Given the description of an element on the screen output the (x, y) to click on. 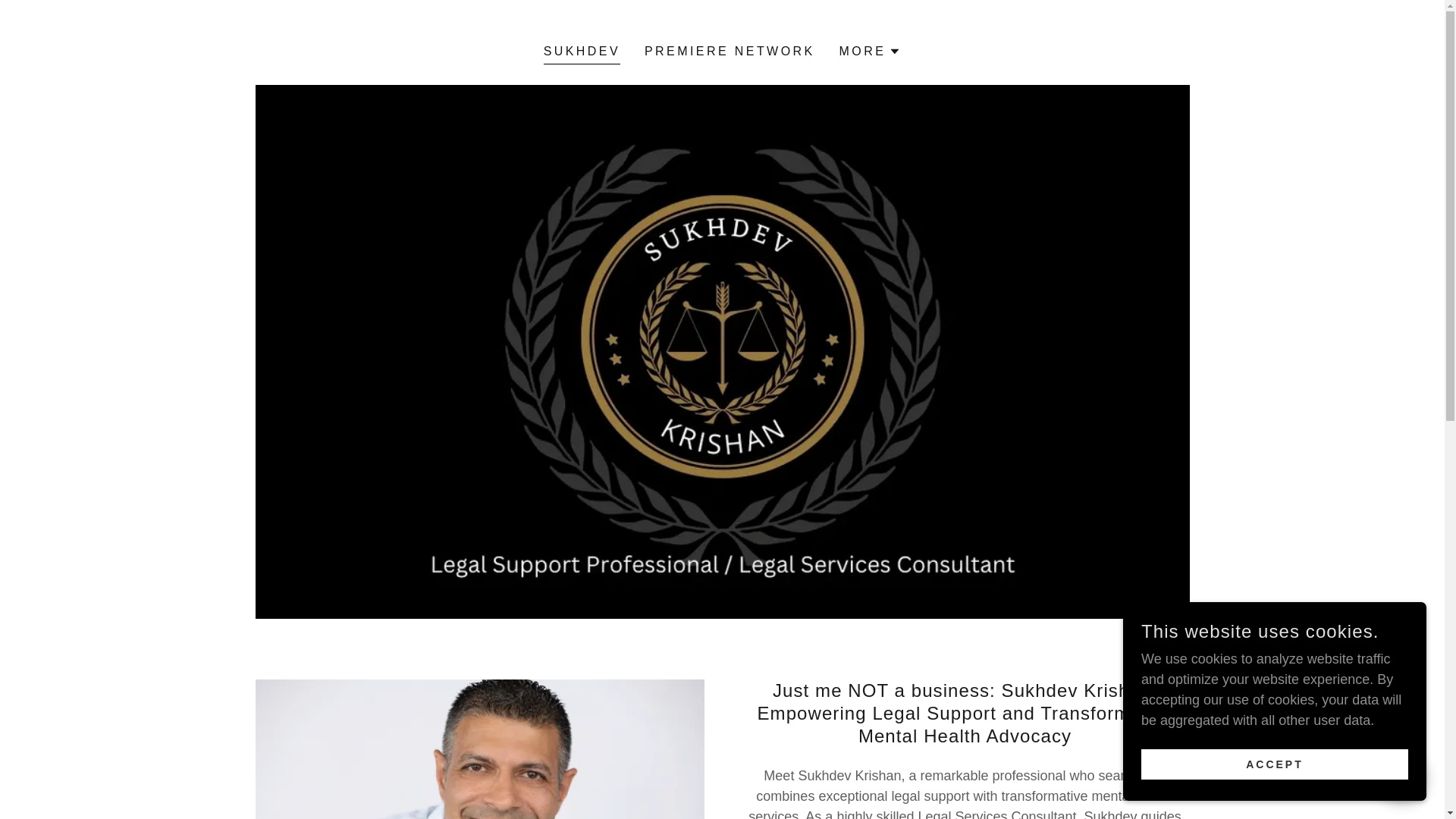
PREMIERE NETWORK (729, 51)
SUKHDEV (581, 53)
ACCEPT (1274, 764)
MORE (870, 51)
